Given the description of an element on the screen output the (x, y) to click on. 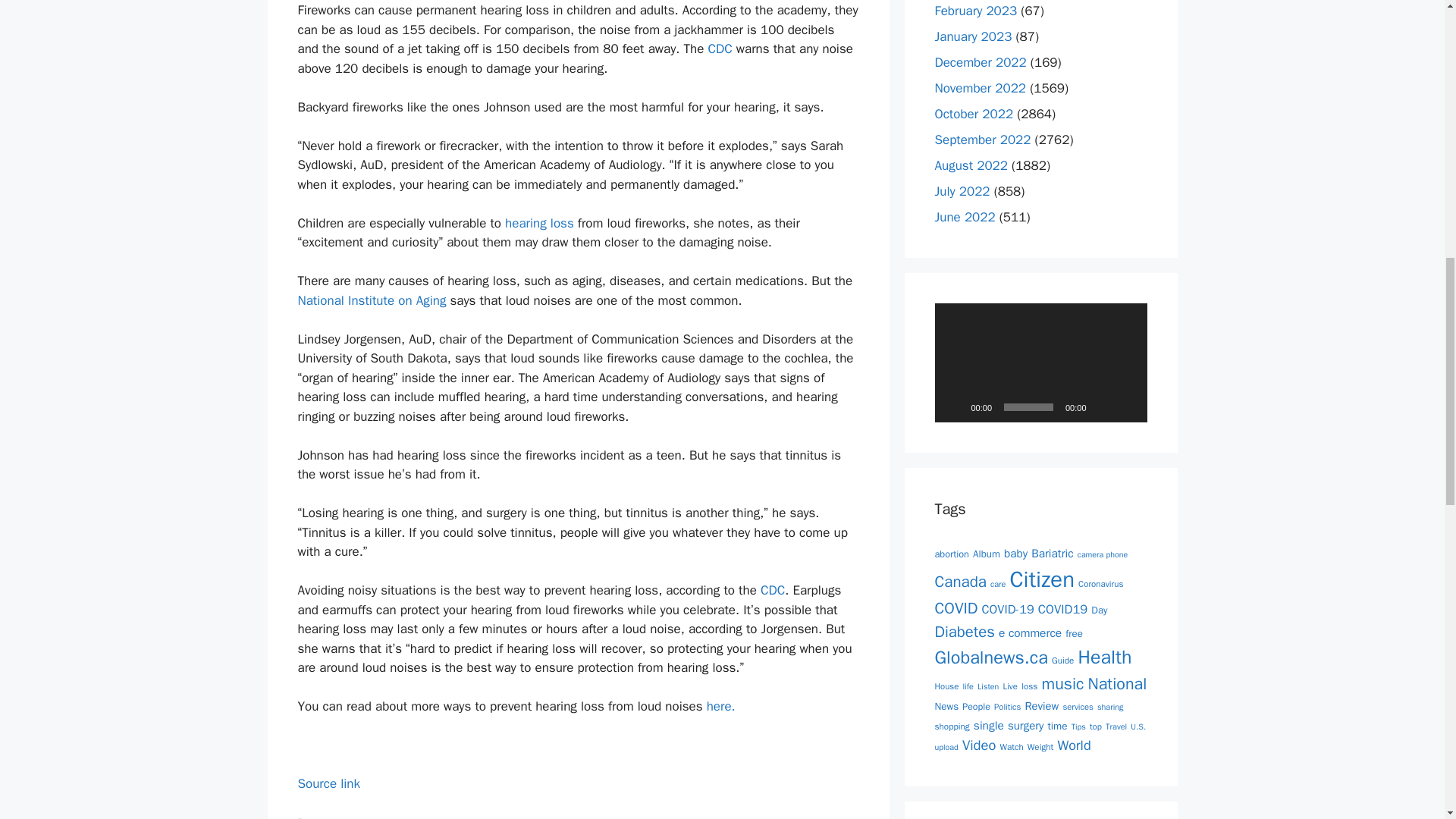
Source link (328, 783)
Play (953, 406)
National Institute on Aging (371, 300)
February 2023 (975, 10)
Mute (1101, 406)
Fullscreen (1126, 406)
here. (720, 706)
January 2023 (972, 36)
CDC (772, 590)
CDC (719, 48)
General Health (351, 817)
hearing loss (539, 222)
